Given the description of an element on the screen output the (x, y) to click on. 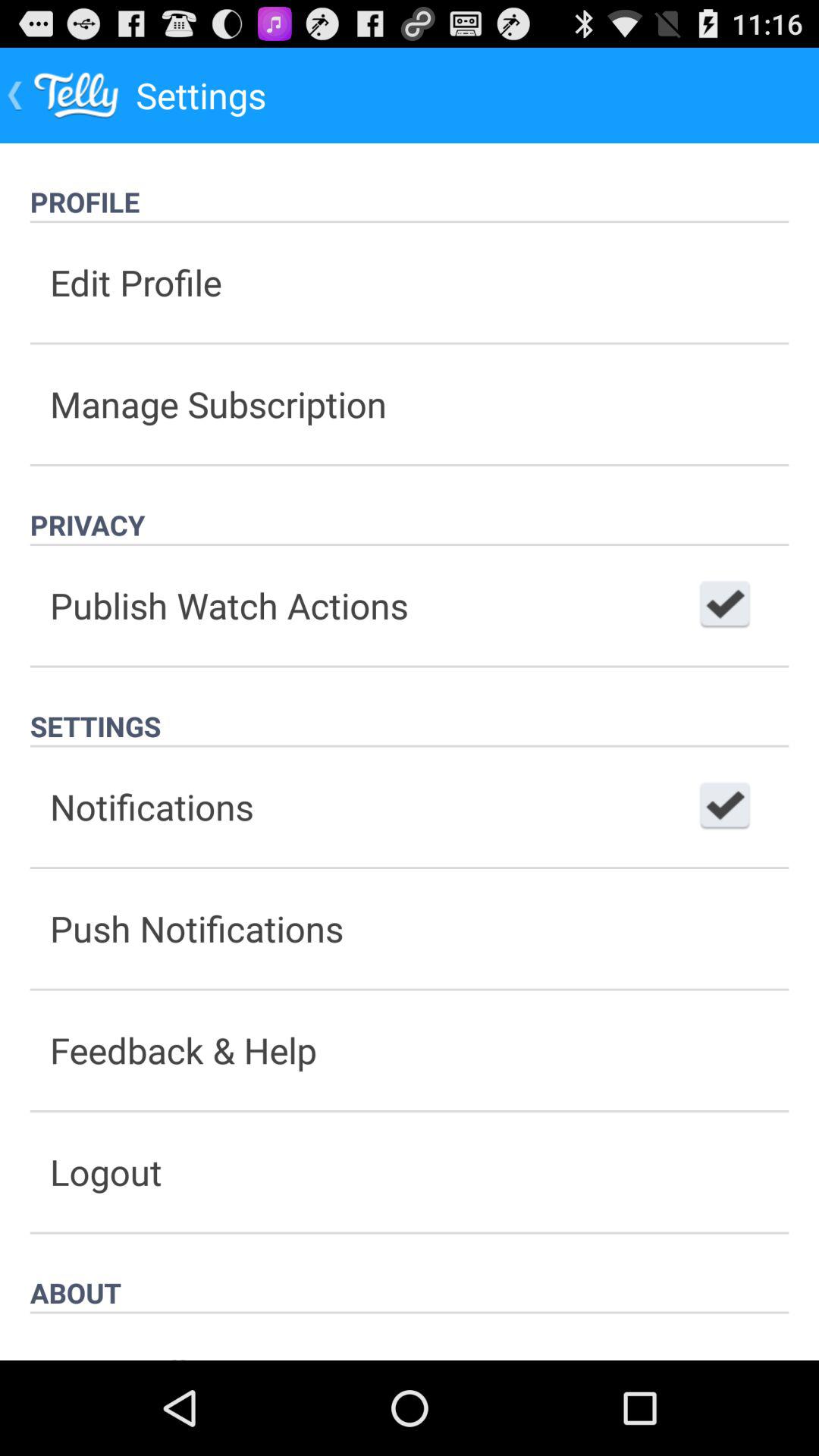
select the feedback & help icon (409, 1050)
